Given the description of an element on the screen output the (x, y) to click on. 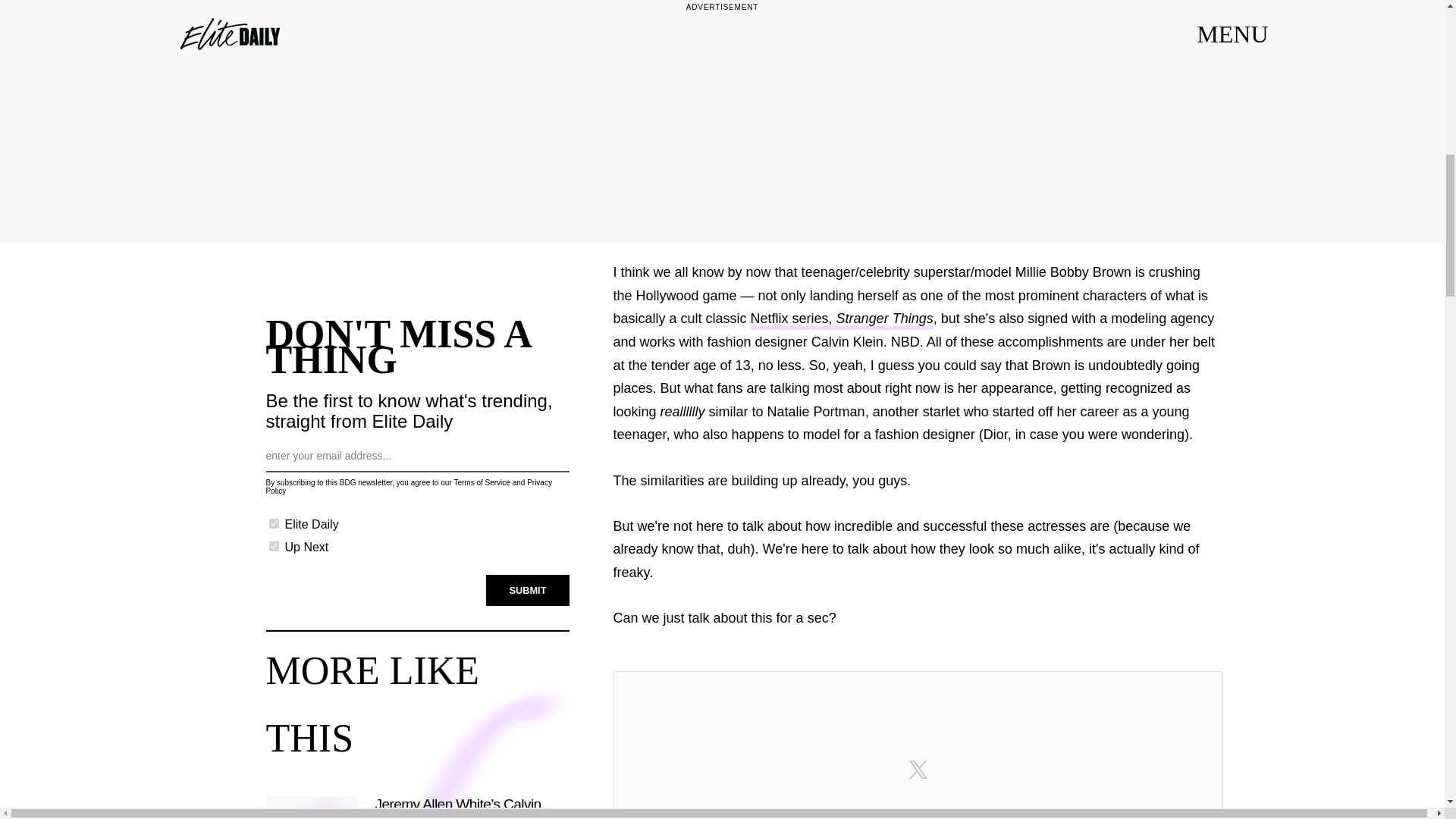
Netflix series, Stranger Things (842, 320)
SUBMIT (527, 590)
Privacy Policy (407, 486)
Terms of Service (480, 482)
